Given the description of an element on the screen output the (x, y) to click on. 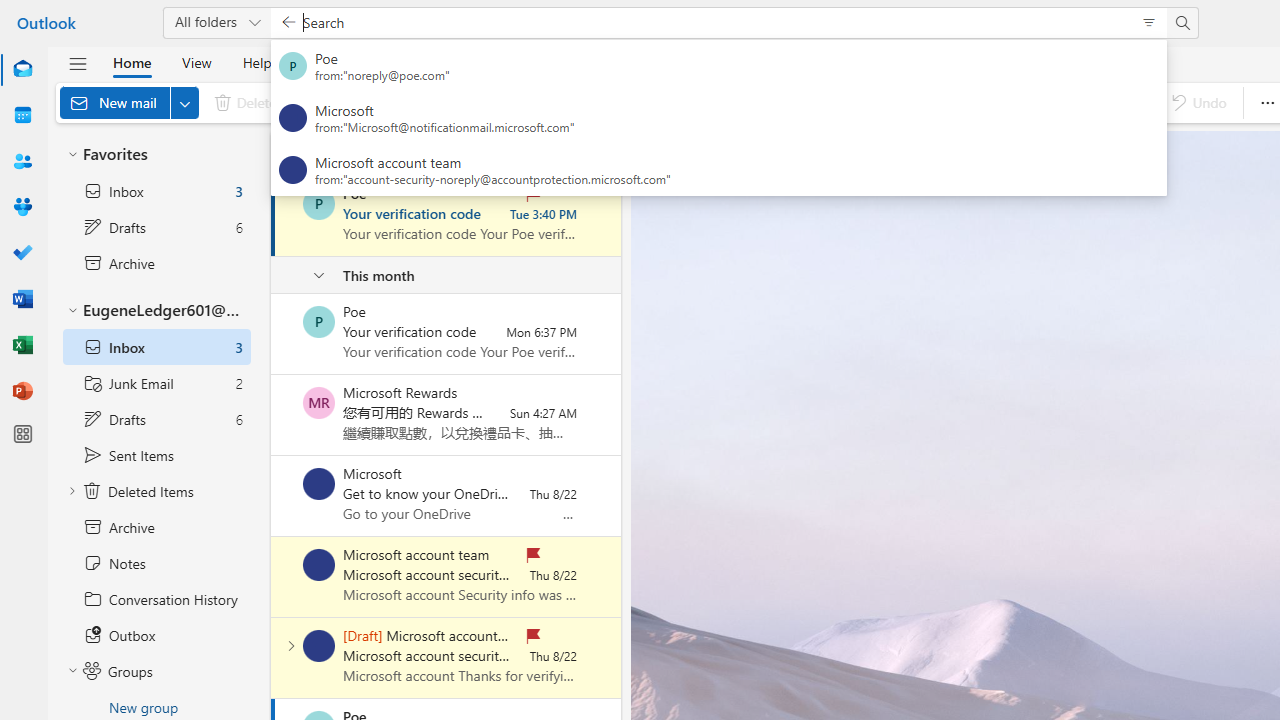
Excel (22, 344)
